Given the description of an element on the screen output the (x, y) to click on. 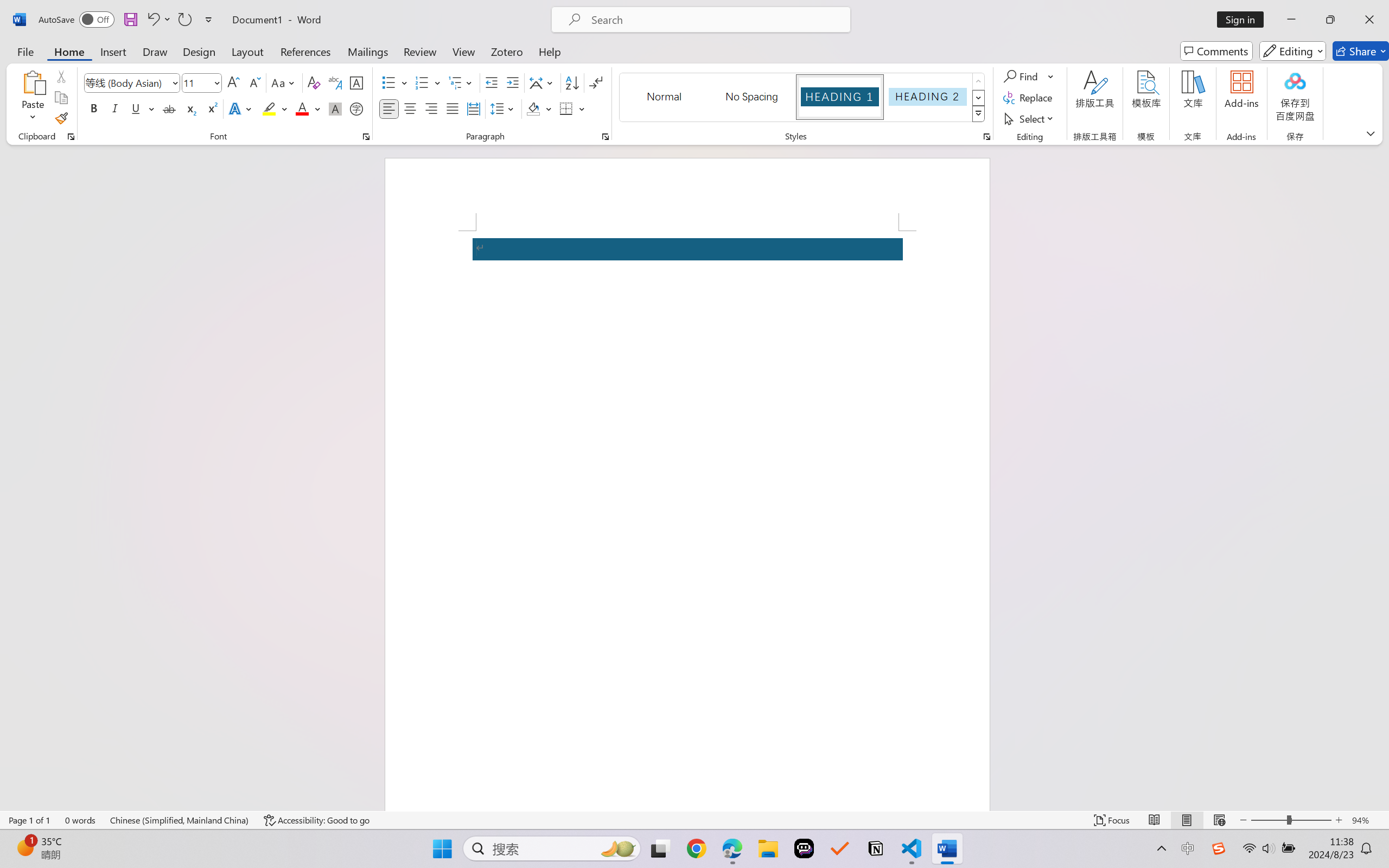
Undo Apply Quick Style Set (152, 19)
